Given the description of an element on the screen output the (x, y) to click on. 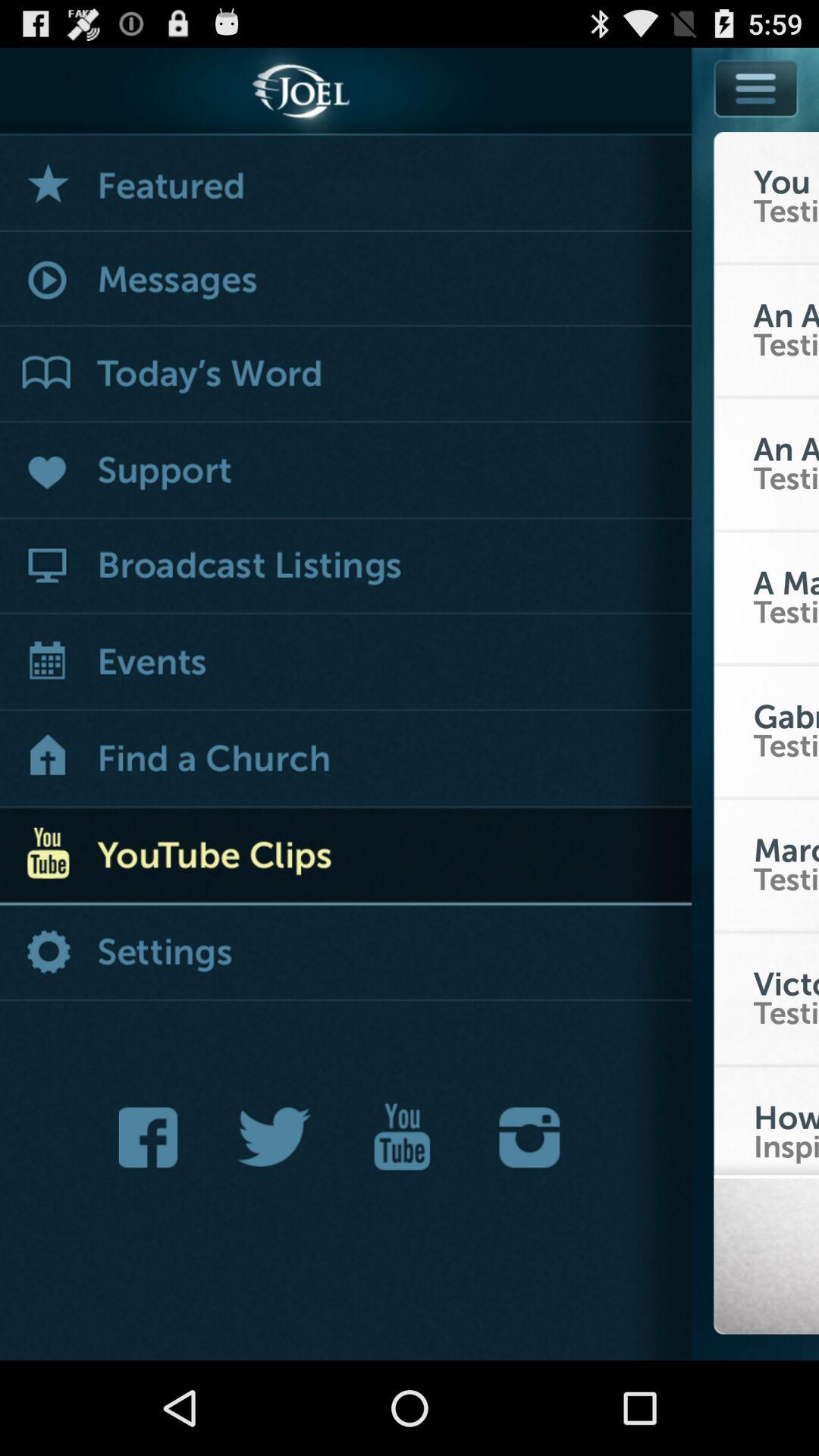
access today 's word (345, 375)
